Given the description of an element on the screen output the (x, y) to click on. 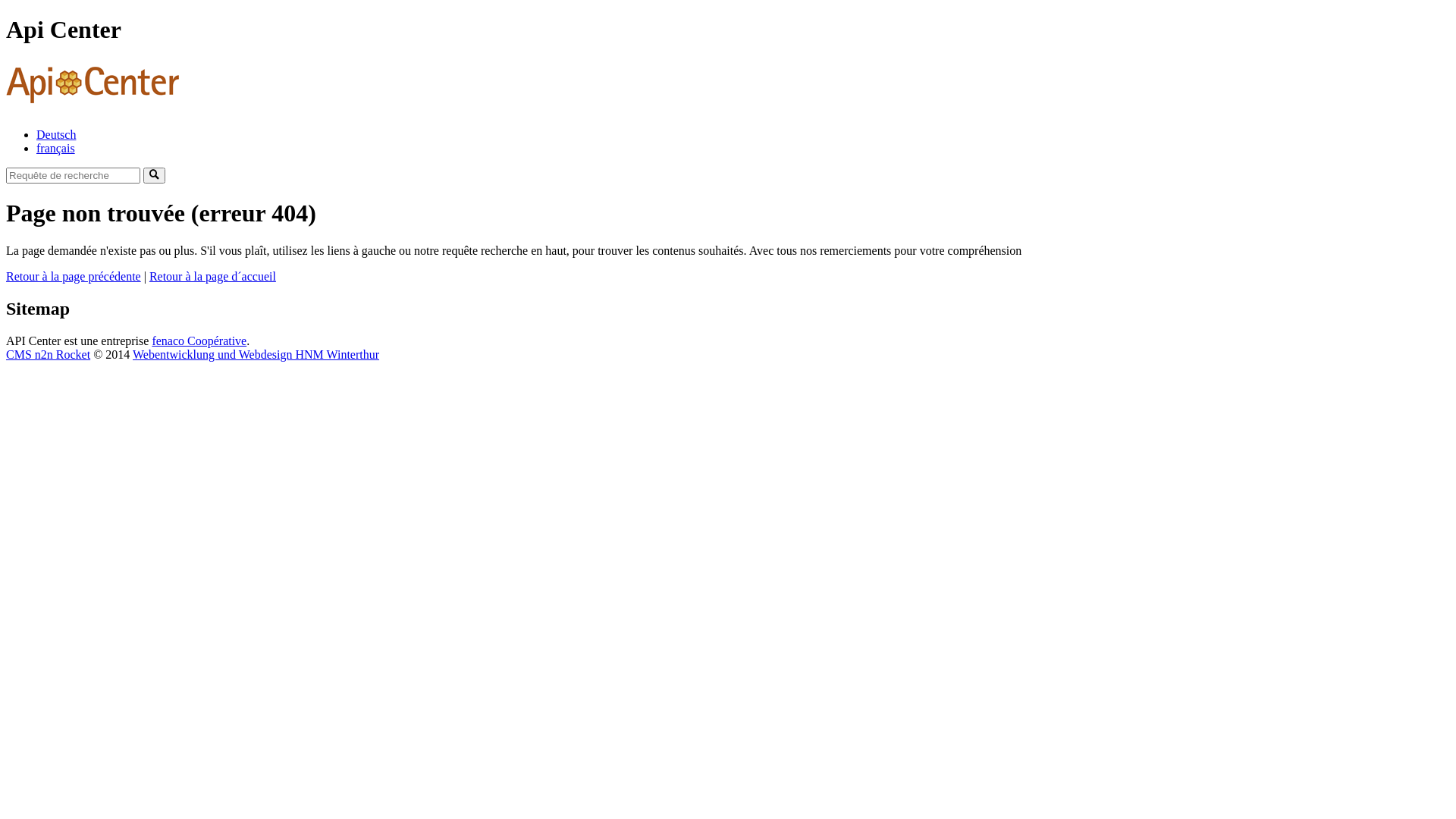
Deutsch Element type: text (55, 134)
1 Element type: text (154, 175)
Webentwicklung und Webdesign HNM Winterthur Element type: text (255, 354)
CMS n2n Rocket Element type: text (48, 354)
